Given the description of an element on the screen output the (x, y) to click on. 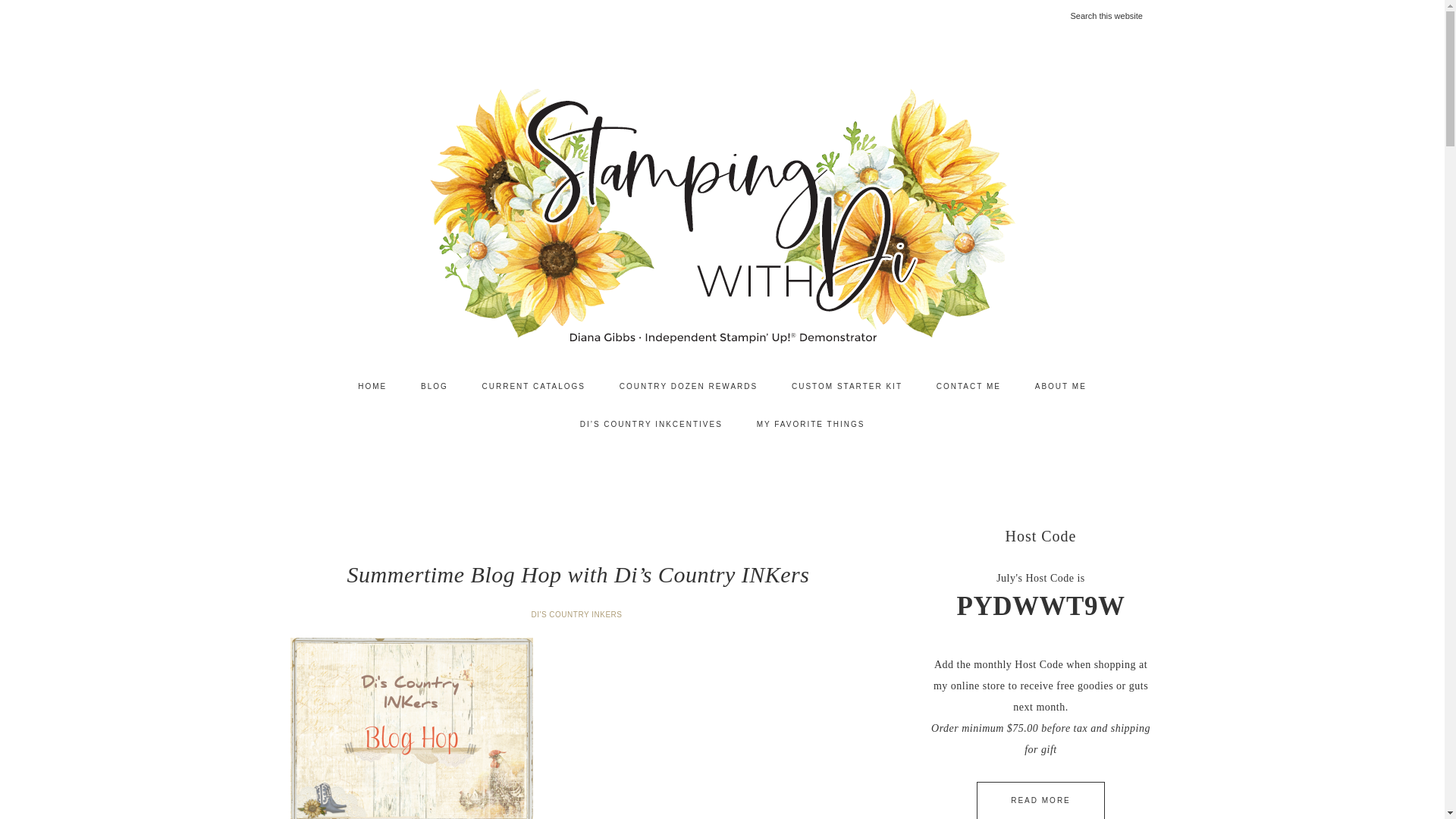
COUNTRY DOZEN REWARDS (688, 386)
MY FAVORITE THINGS (810, 424)
DI'S COUNTRY INKERS (578, 614)
CURRENT CATALOGS (533, 386)
Blog hop button www.stampingwithdi.com (410, 728)
HOME (371, 386)
CUSTOM STARTER KIT (846, 386)
ABOUT ME (1061, 386)
CONTACT ME (968, 386)
BLOG (434, 386)
